Given the description of an element on the screen output the (x, y) to click on. 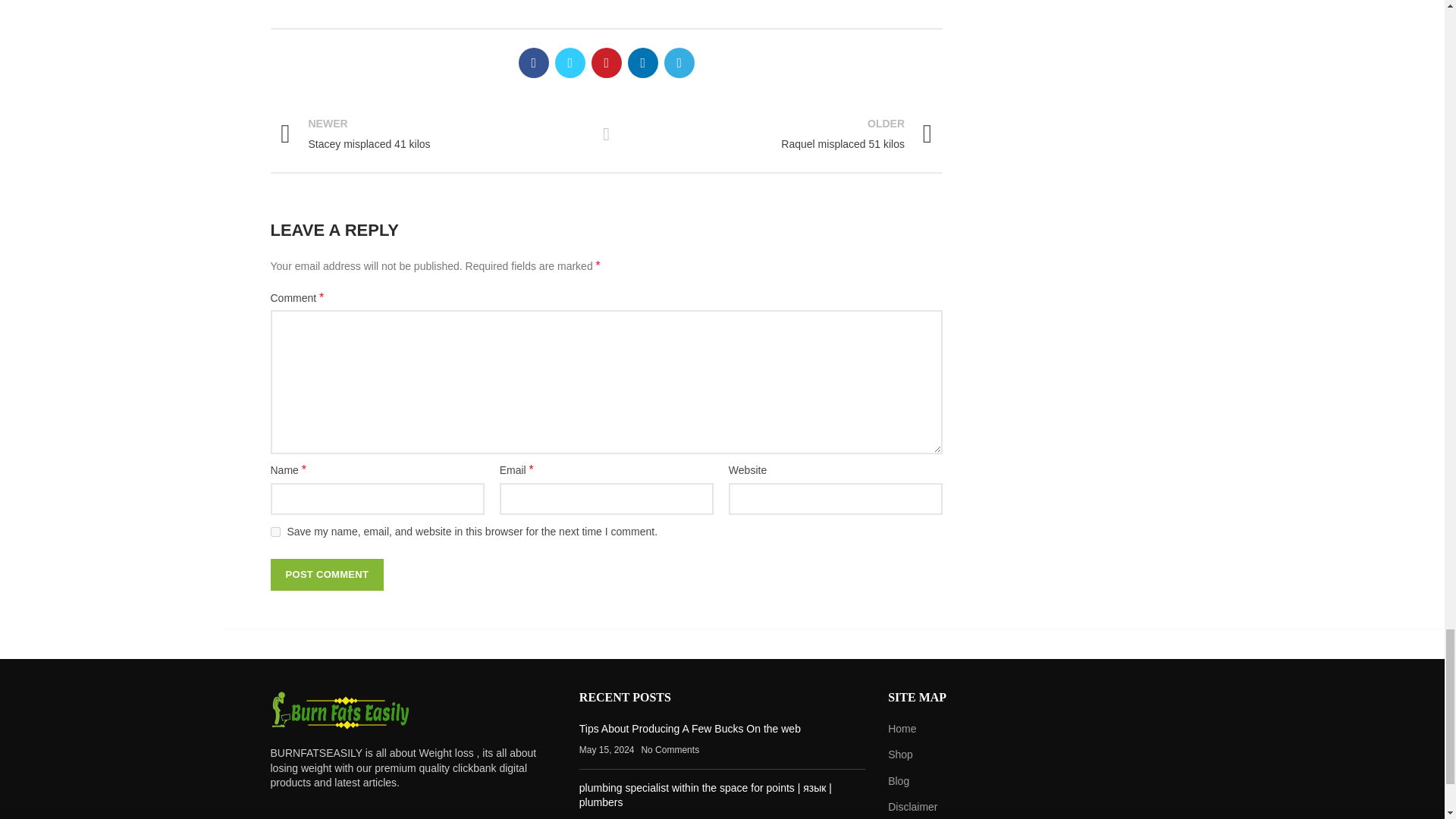
Post Comment (326, 574)
Facebook (533, 62)
Telegram (678, 62)
Pinterest (606, 62)
yes (274, 532)
Twitter (779, 134)
Post Comment (569, 62)
Back to list (326, 574)
linkedin (606, 133)
